Given the description of an element on the screen output the (x, y) to click on. 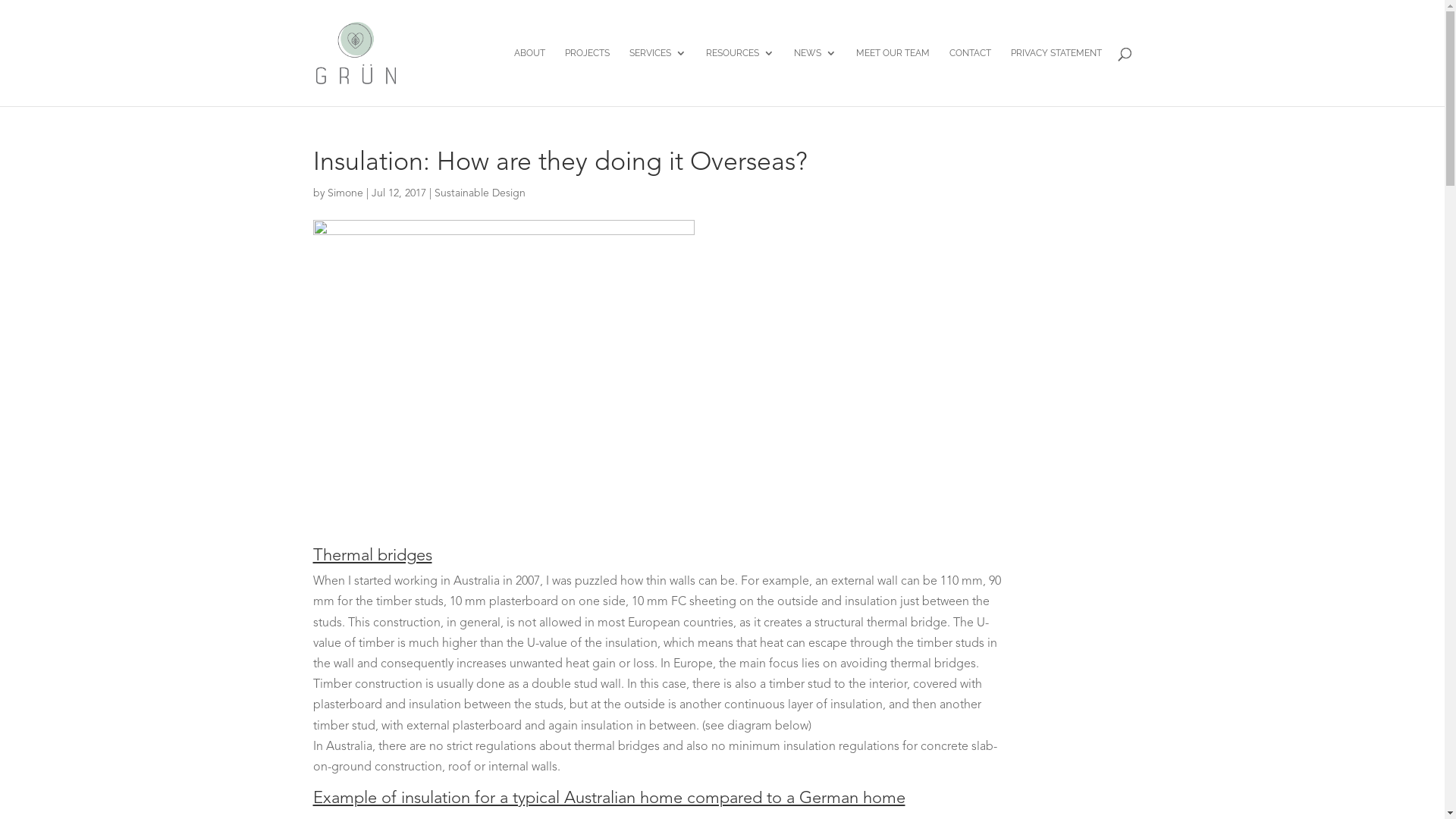
ABOUT Element type: text (529, 76)
PRIVACY STATEMENT Element type: text (1055, 76)
SERVICES Element type: text (657, 76)
PROJECTS Element type: text (586, 76)
Sustainable Design Element type: text (478, 193)
CONTACT Element type: text (970, 76)
RESOURCES Element type: text (739, 76)
MEET OUR TEAM Element type: text (891, 76)
Simone Element type: text (345, 193)
NEWS Element type: text (814, 76)
